Given the description of an element on the screen output the (x, y) to click on. 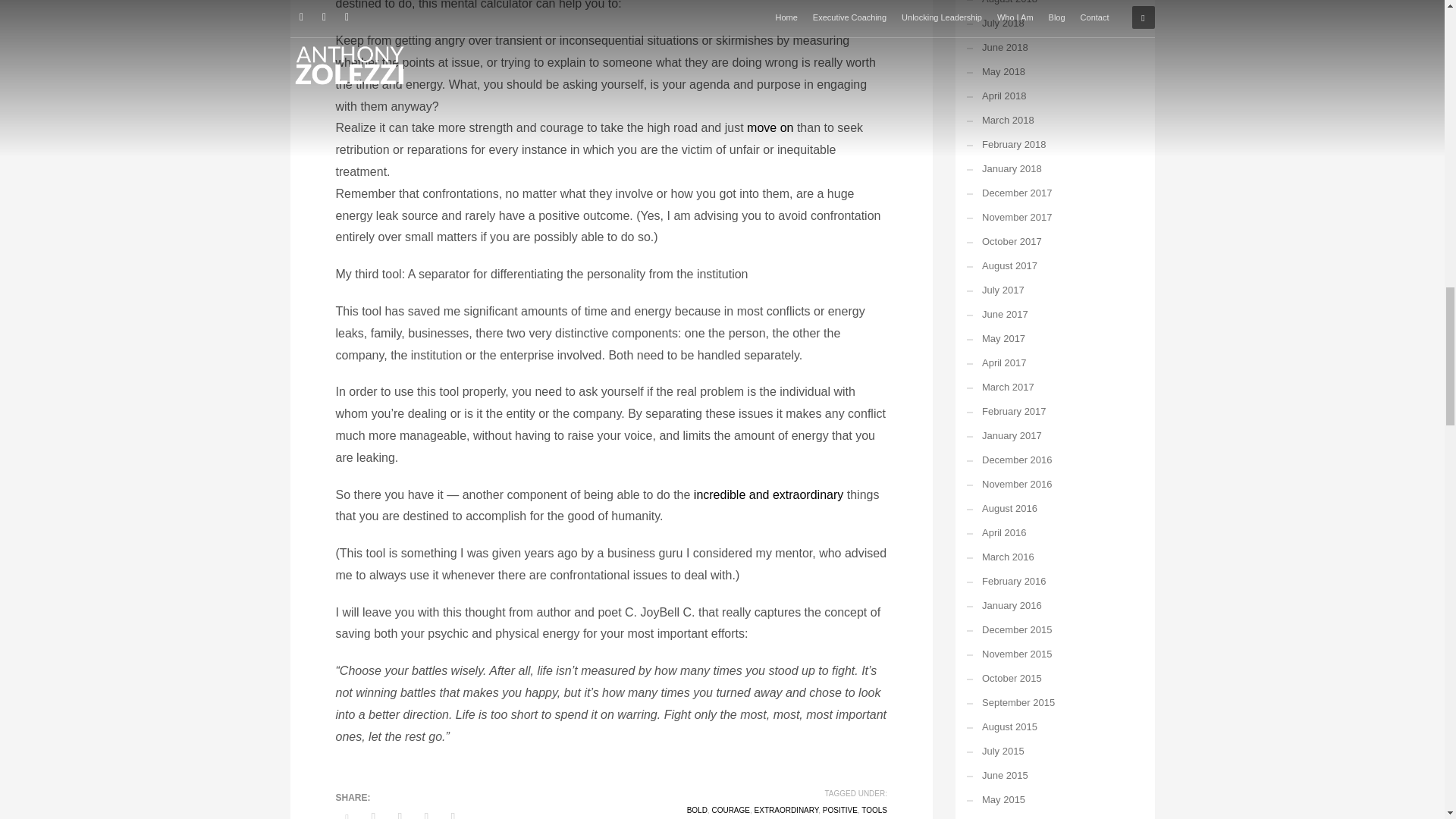
SHARE ON MAIL (452, 812)
EXTRAORDINARY (786, 809)
incredible and extraordinary (768, 494)
move on (769, 127)
POSITIVE (839, 809)
SHARE ON TWITTER (346, 812)
SHARE ON PINTEREST (426, 812)
SHARE ON GPLUS (399, 812)
COURAGE (730, 809)
TOOLS (873, 809)
